Given the description of an element on the screen output the (x, y) to click on. 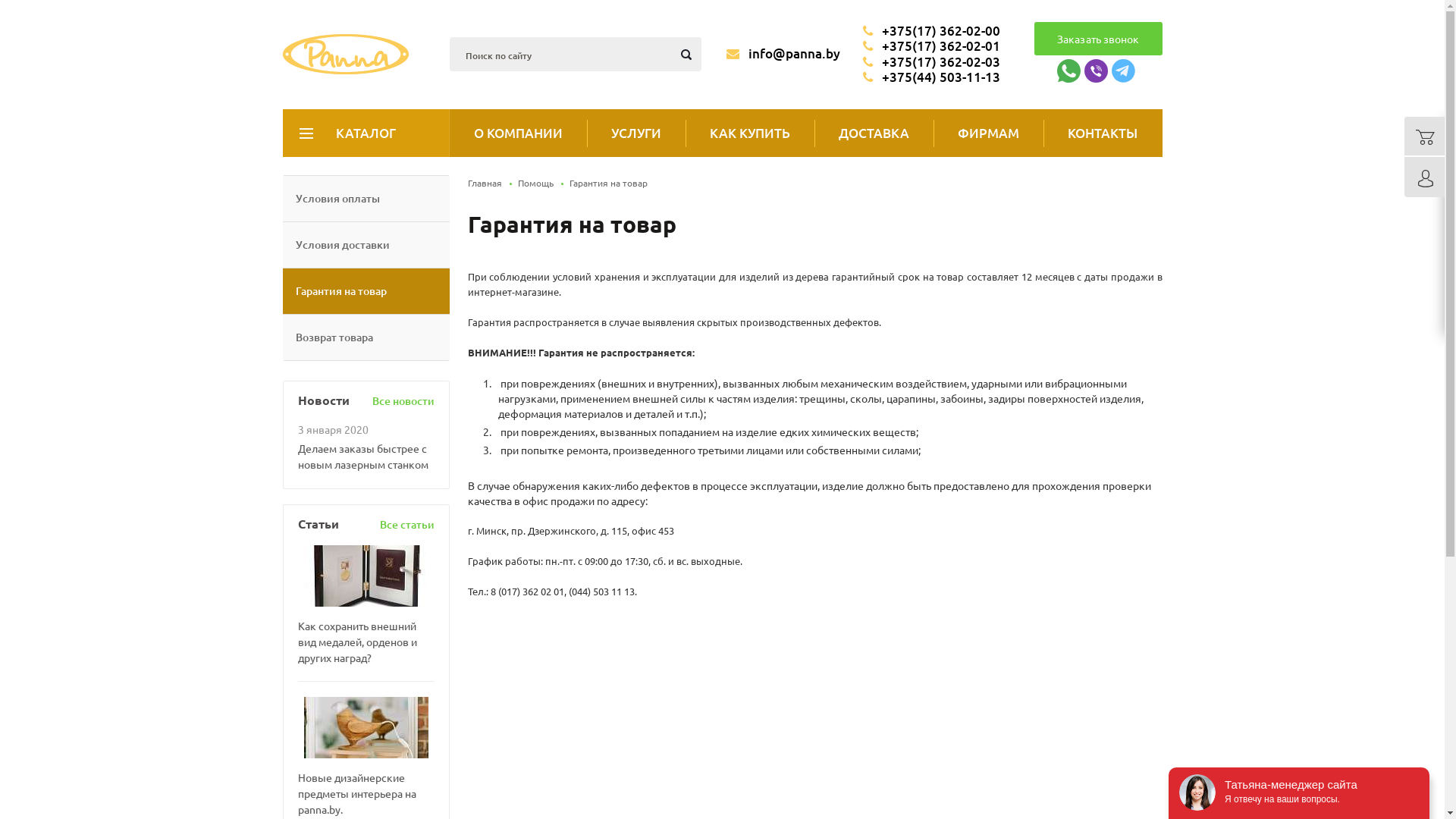
+375(17) 362-02-00 Element type: text (931, 30)
info@panna.by Element type: text (783, 53)
+375(44) 503-11-13 Element type: text (931, 76)
+375(17) 362-02-01 Element type: text (931, 45)
+375(17) 362-02-03 Element type: text (931, 61)
